Given the description of an element on the screen output the (x, y) to click on. 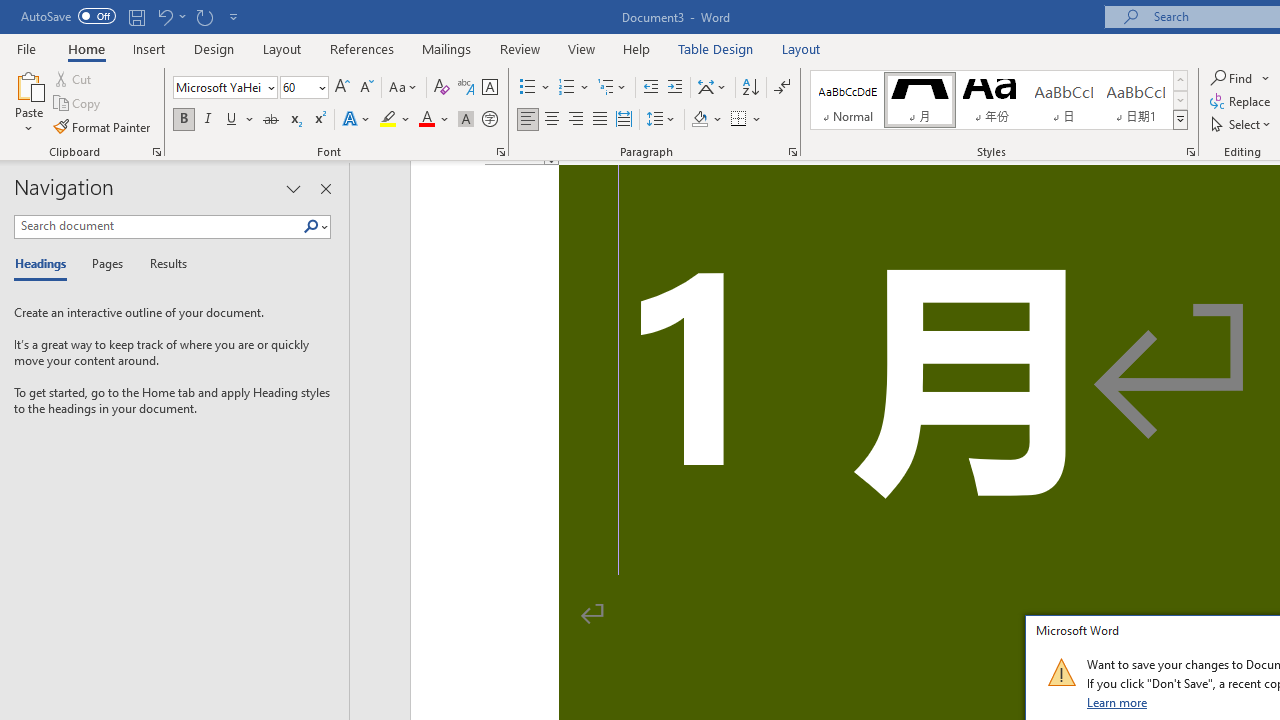
Text Highlight Color Yellow (388, 119)
Change Case (404, 87)
Undo Increase Indent (164, 15)
